Given the description of an element on the screen output the (x, y) to click on. 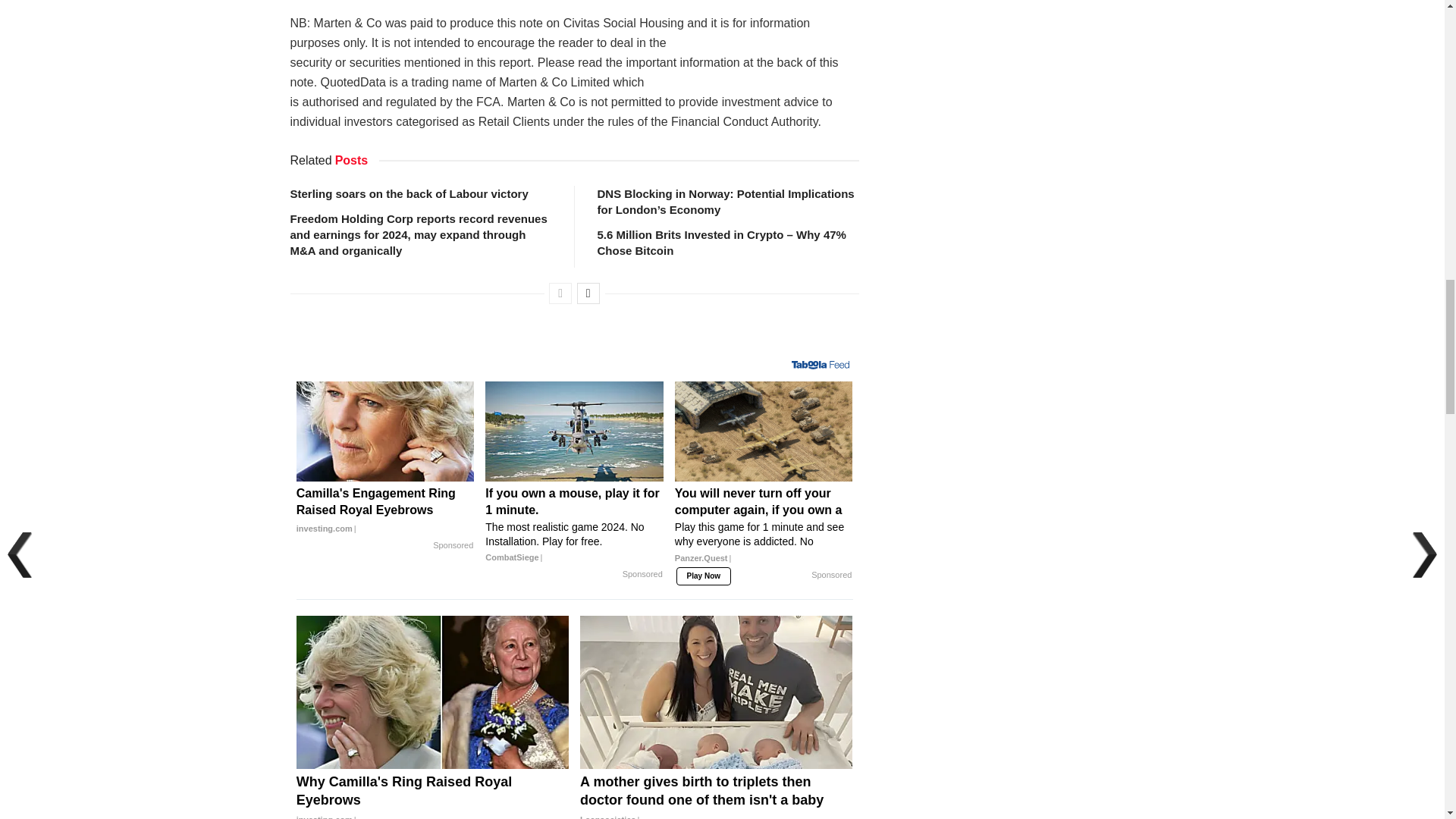
Previous (560, 292)
If you own a mouse, play it for 1 minute. (573, 525)
Camilla's Engagement Ring Raised Royal Eyebrows (385, 511)
Why Camilla's Ring Raised Royal Eyebrows (433, 796)
Next (587, 292)
